Given the description of an element on the screen output the (x, y) to click on. 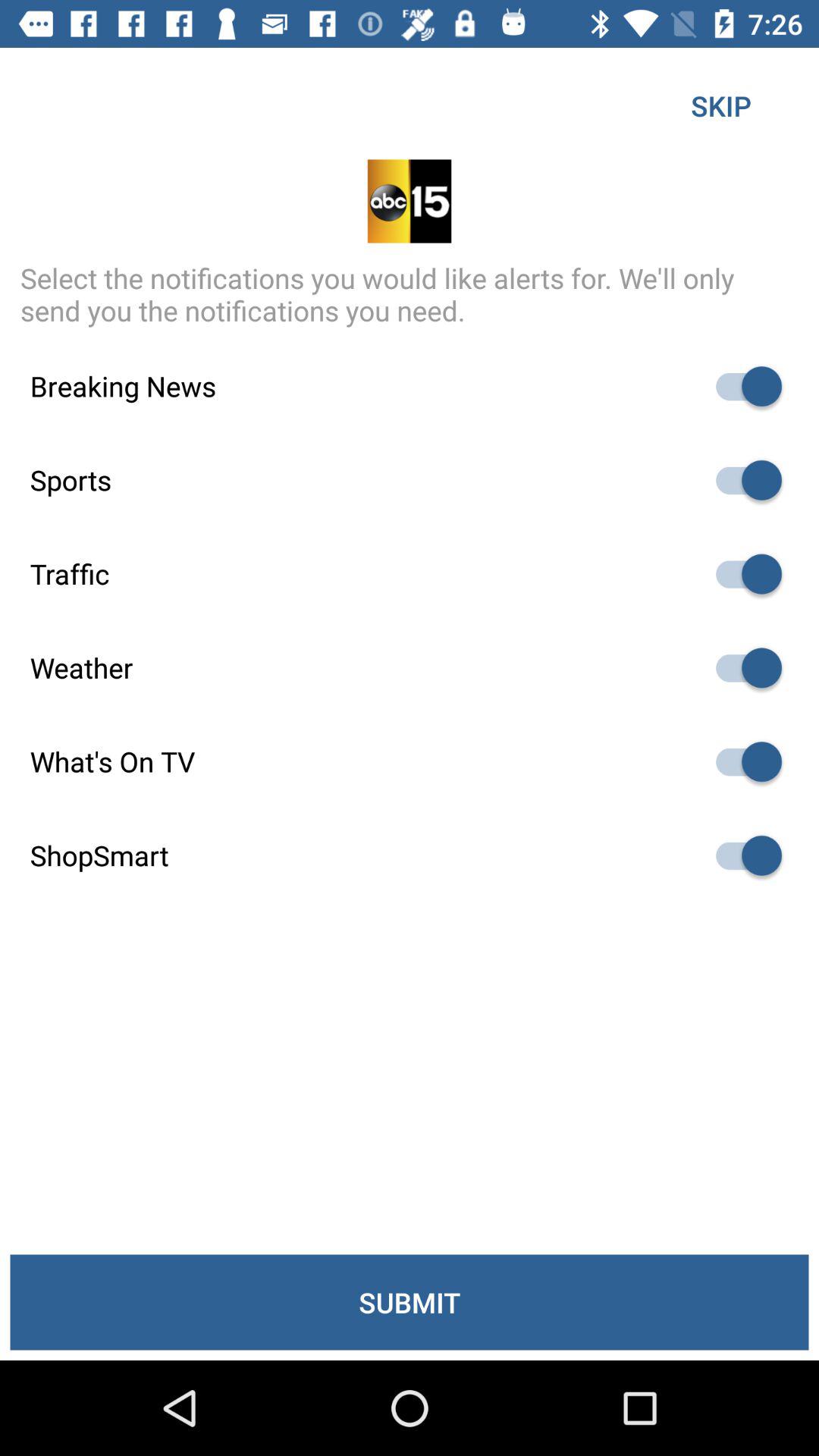
to enable or disable automatic playback (741, 667)
